Given the description of an element on the screen output the (x, y) to click on. 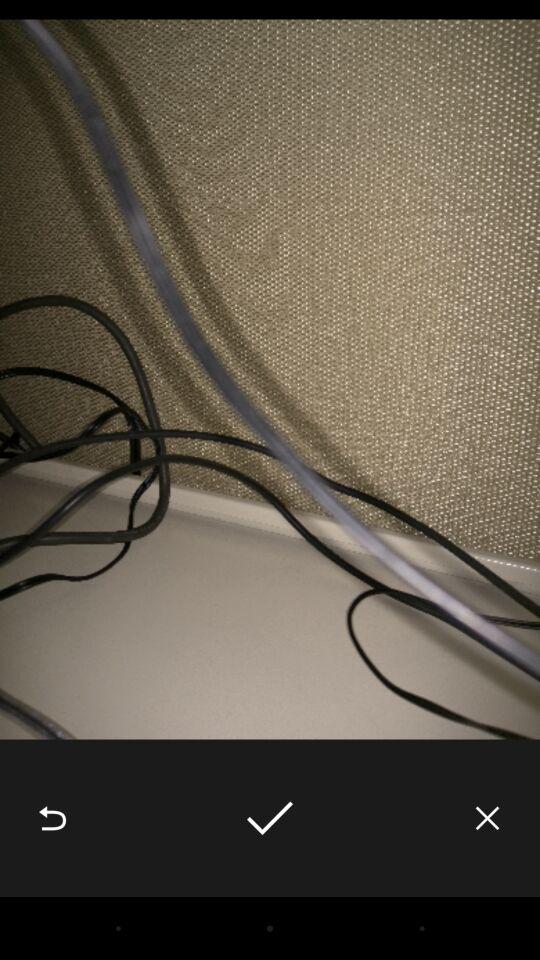
select icon at the bottom right corner (487, 817)
